Given the description of an element on the screen output the (x, y) to click on. 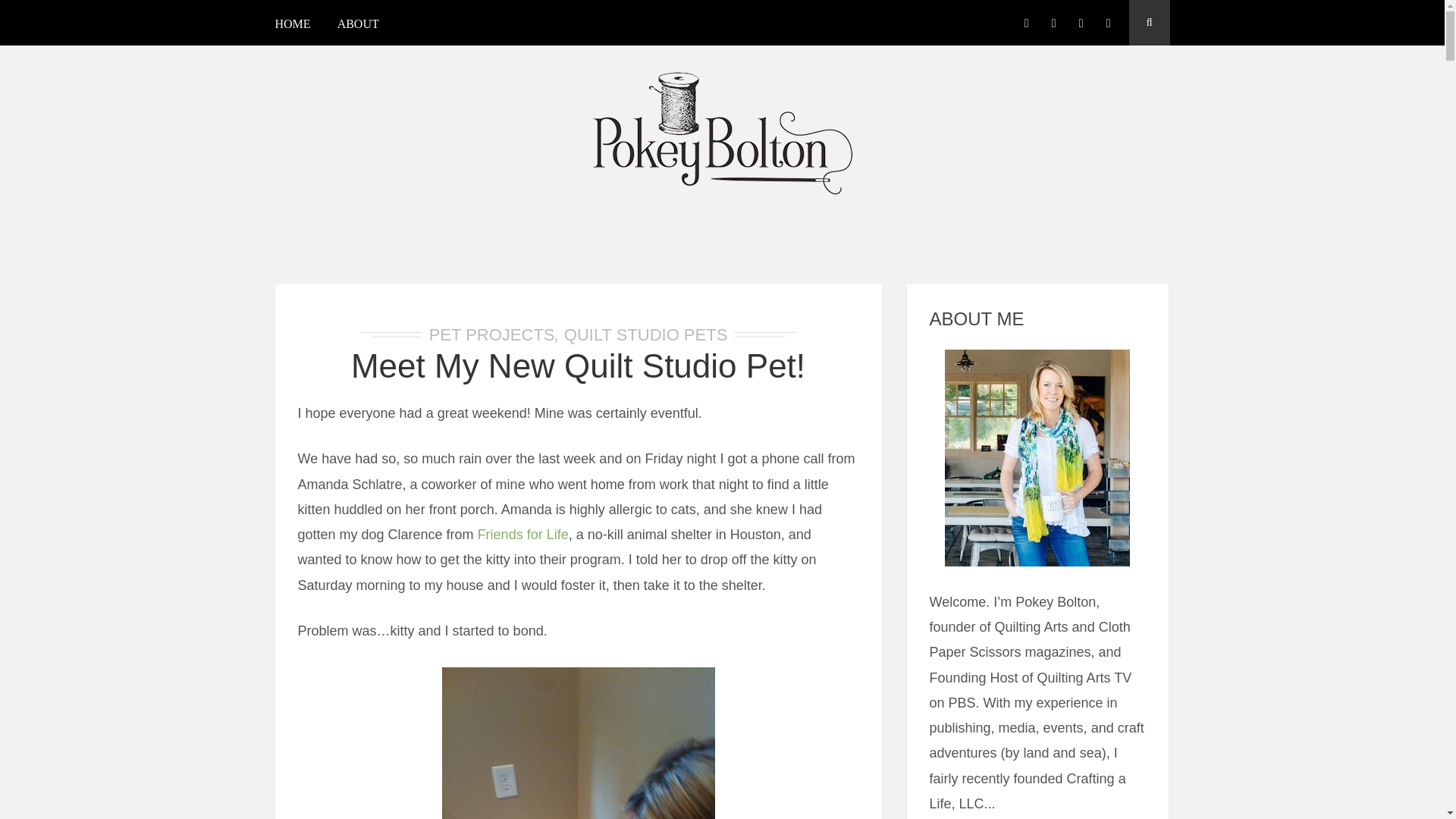
ABOUT (358, 25)
QUILT STUDIO PETS (646, 334)
Friends for Life (523, 534)
PET PROJECTS (491, 334)
Meet My New Quilt Studio Pet! (577, 365)
Fostering (577, 741)
Permanent Link to Meet My New Quilt Studio Pet! (577, 365)
HOME (298, 25)
